Given the description of an element on the screen output the (x, y) to click on. 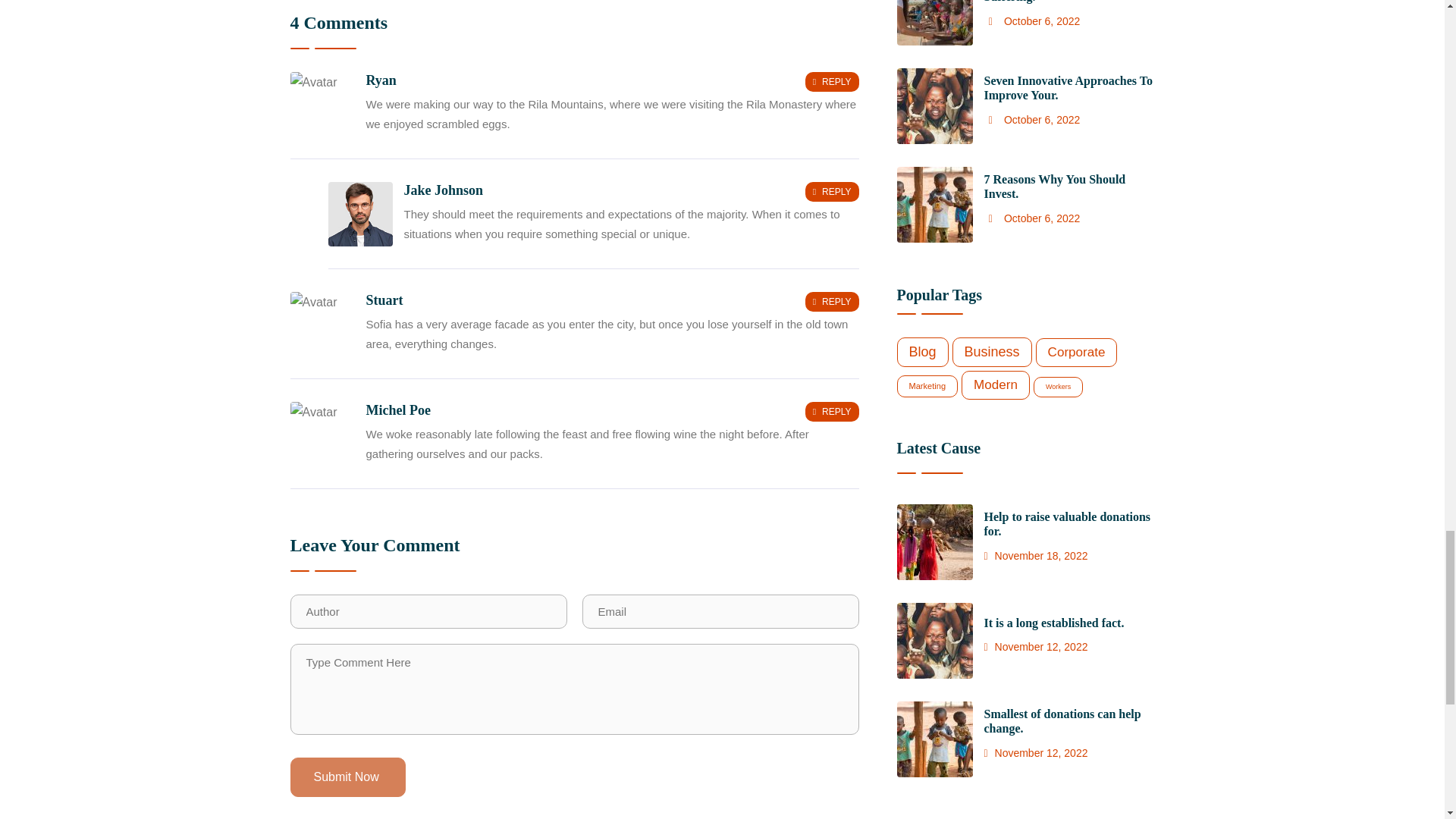
Submit Now  (347, 776)
